Given the description of an element on the screen output the (x, y) to click on. 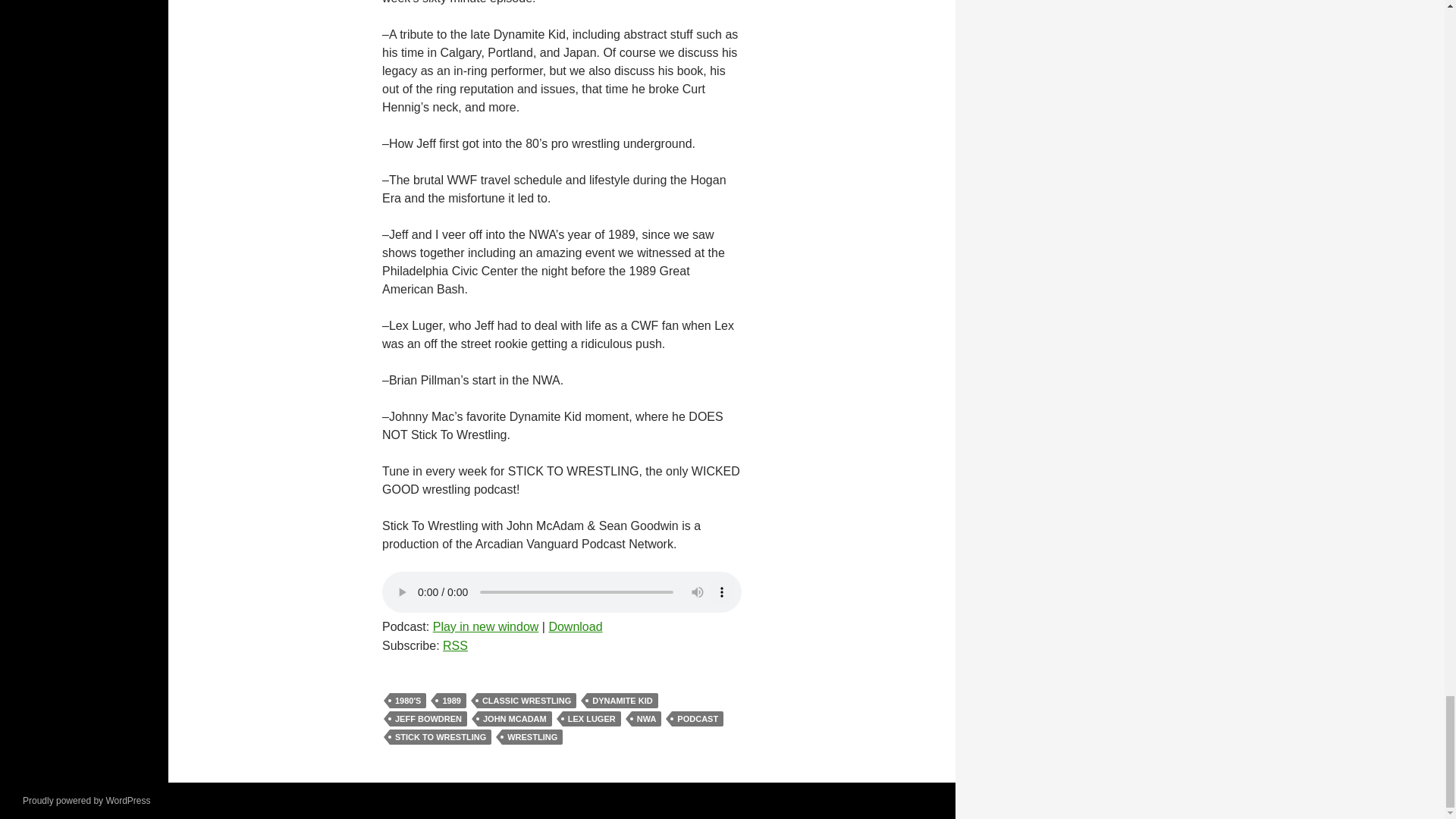
Subscribe via RSS (454, 645)
Download (575, 626)
Play in new window (485, 626)
